Given the description of an element on the screen output the (x, y) to click on. 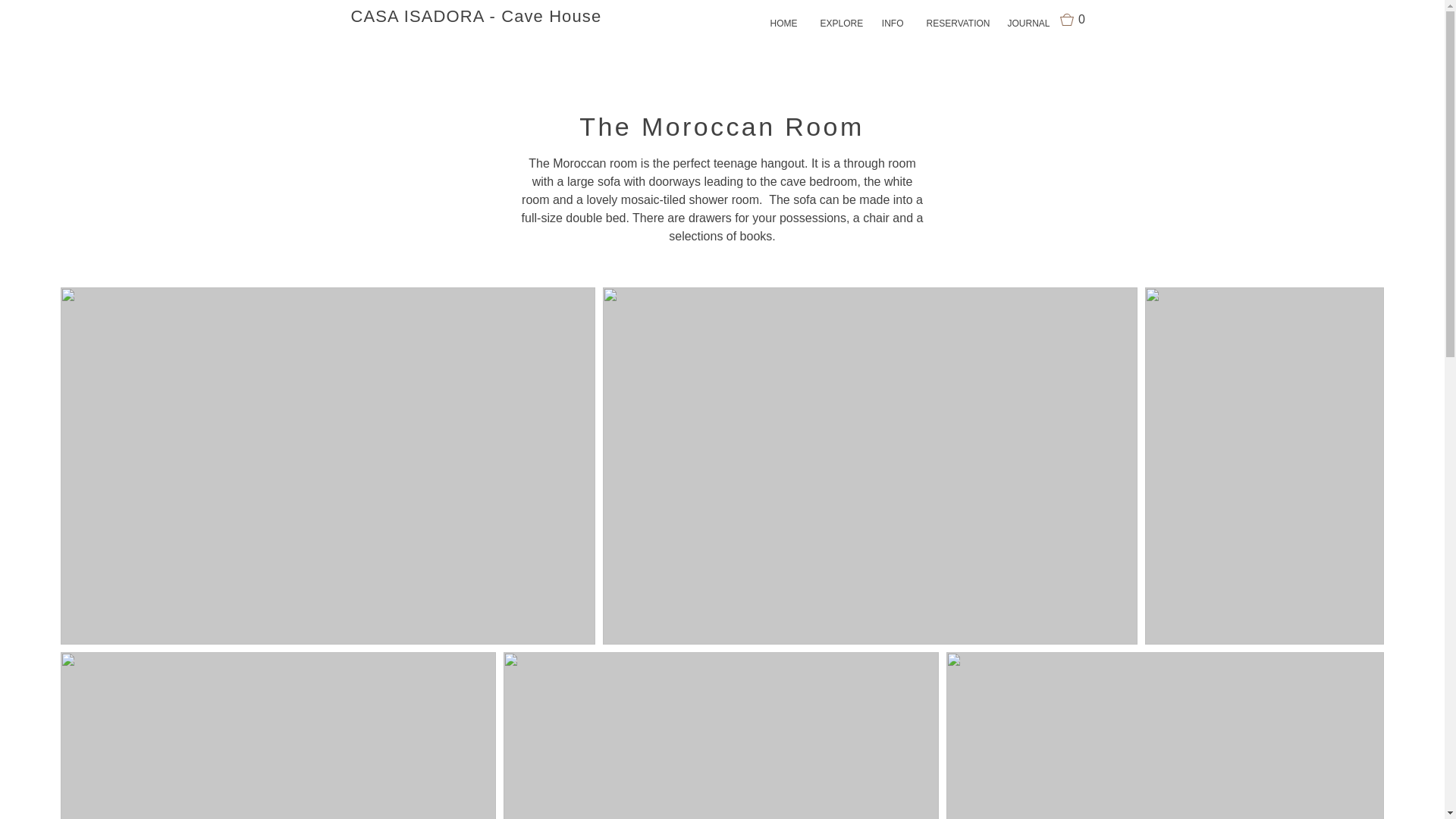
JOURNAL (1027, 23)
RESERVATION (954, 23)
HOME (783, 23)
CASA ISADORA - Cave House (475, 15)
